Given the description of an element on the screen output the (x, y) to click on. 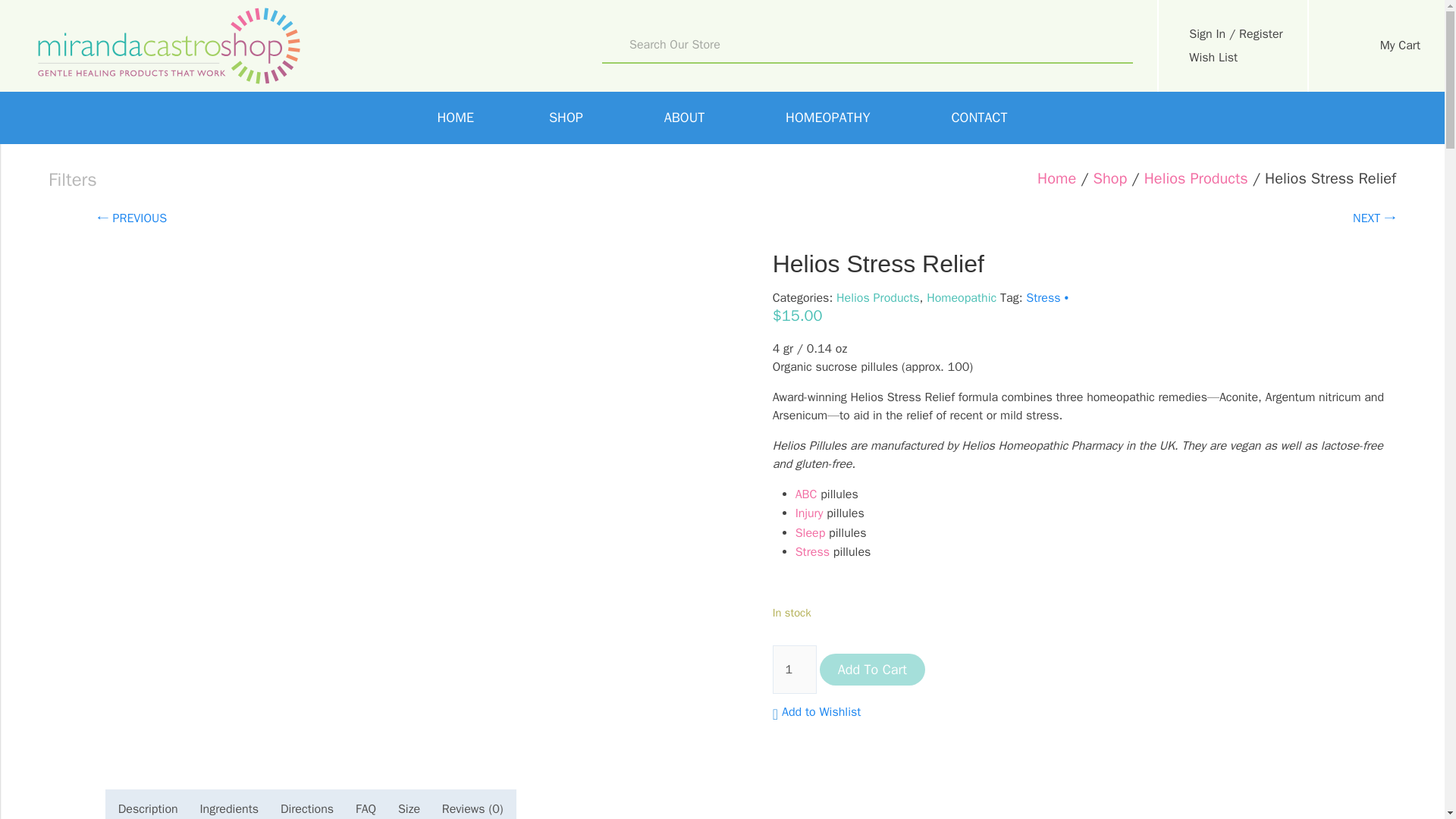
SHOP (568, 117)
HOMEOPATHY (831, 117)
HOME (455, 117)
Wish List (1232, 56)
ABOUT (687, 117)
1 (794, 669)
Qty (794, 669)
CONTACT (978, 117)
